Given the description of an element on the screen output the (x, y) to click on. 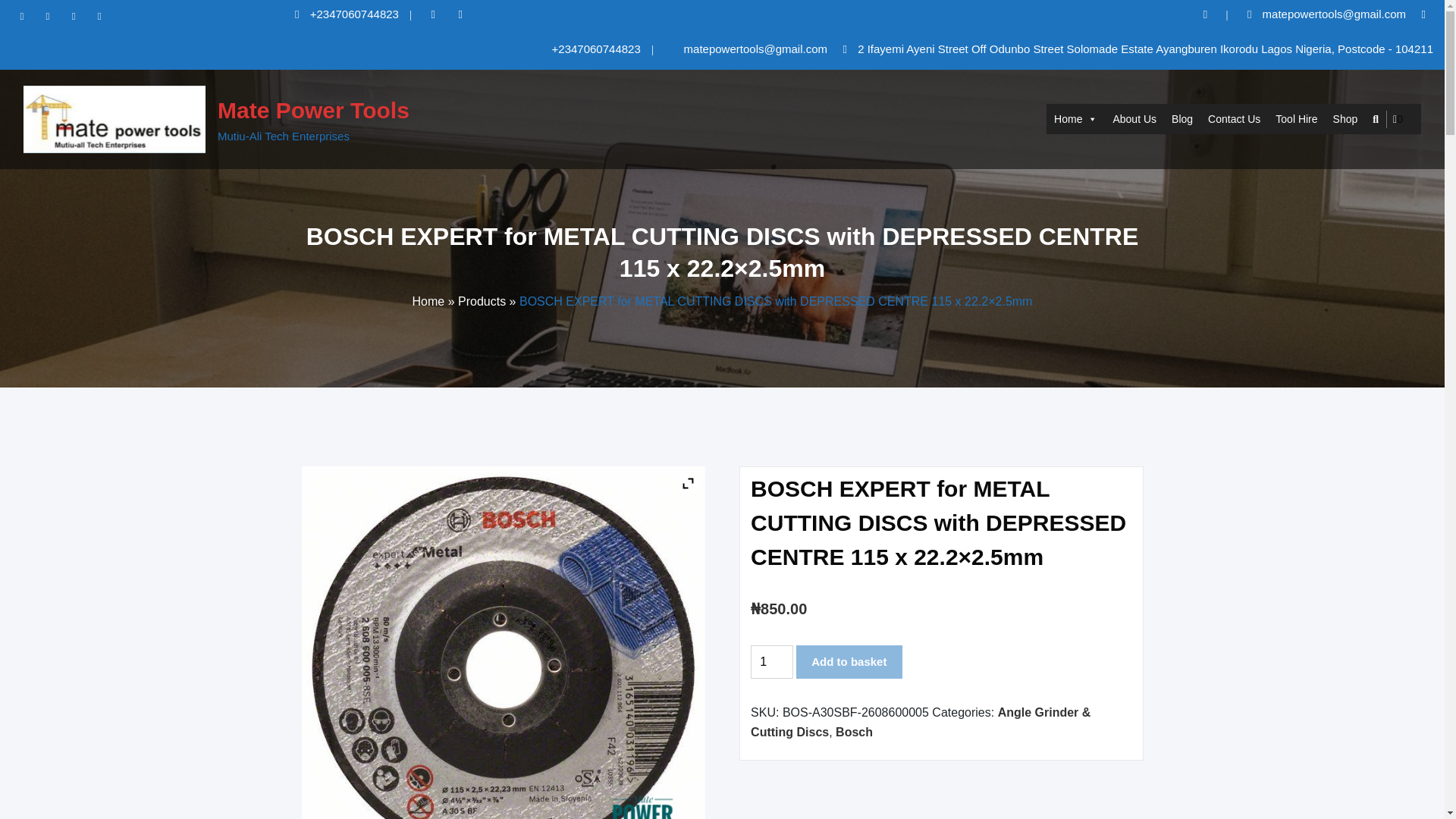
Home (1075, 119)
Mate Power Tools (312, 109)
Search (1375, 119)
1 (772, 661)
